Given the description of an element on the screen output the (x, y) to click on. 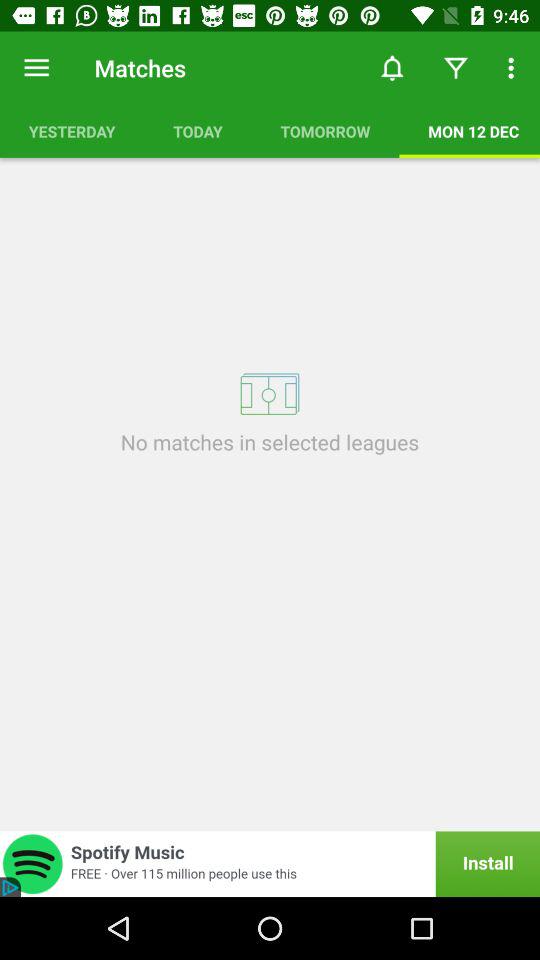
tap item above mon 12 dec item (455, 67)
